Given the description of an element on the screen output the (x, y) to click on. 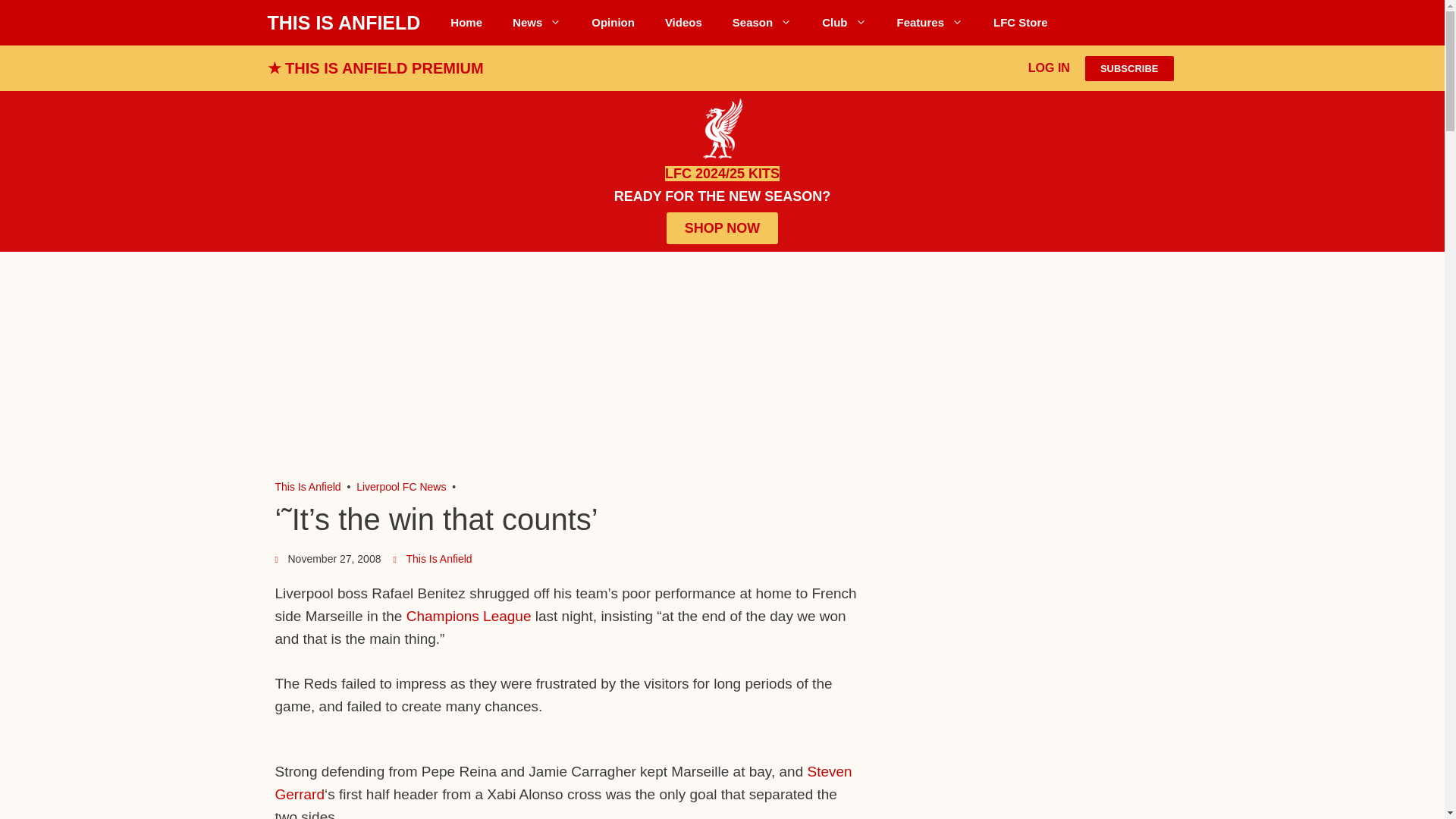
Go to the Liverpool FC News category archives. (400, 486)
Opinion (612, 22)
Liverpool FC (307, 486)
News (536, 22)
Steven Gerrard (563, 782)
THIS IS ANFIELD (343, 22)
Liverpool FC Opinion (612, 22)
Club (843, 22)
Liverpool FC Videos (683, 22)
Features (929, 22)
